Given the description of an element on the screen output the (x, y) to click on. 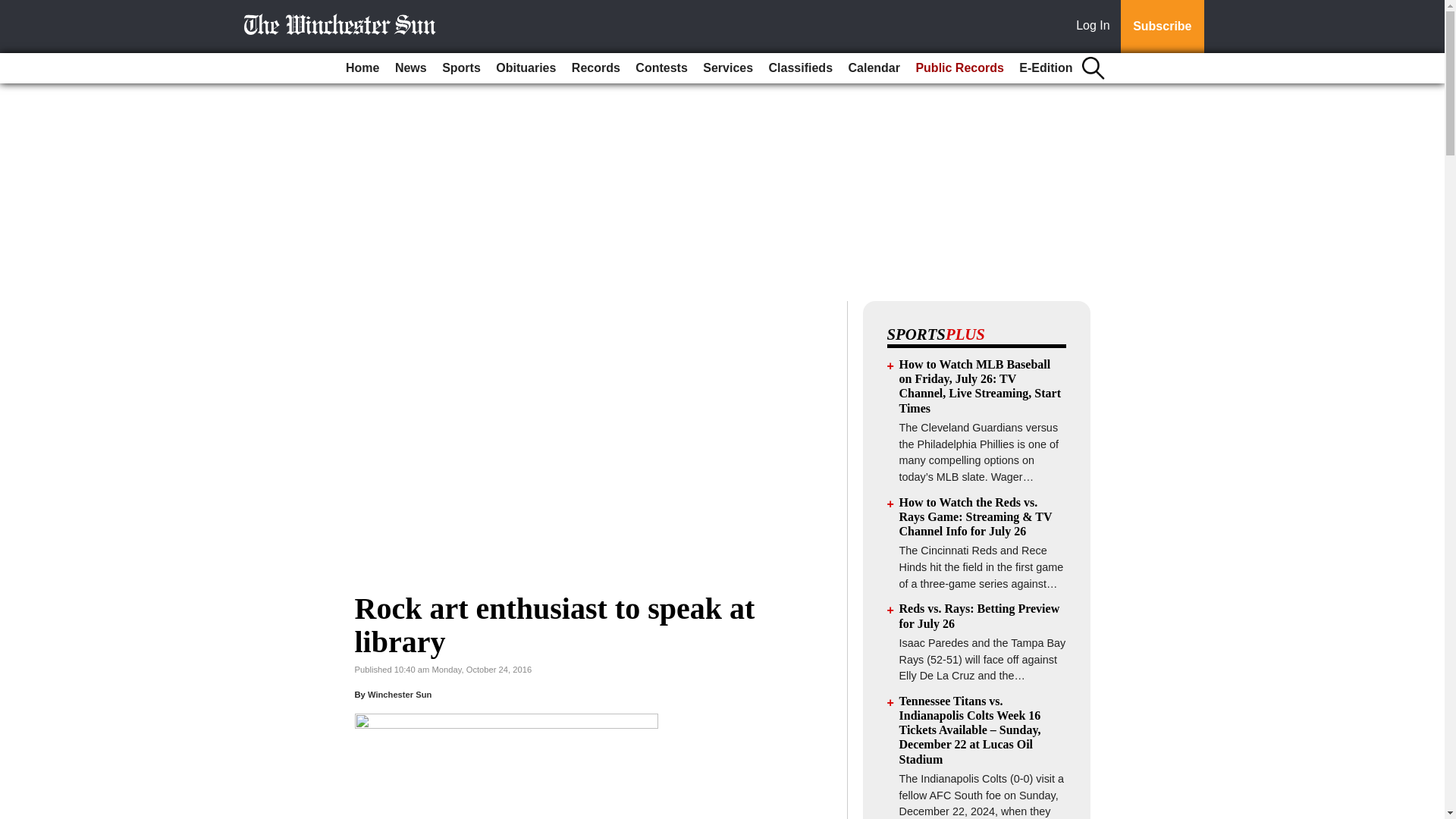
Public Records (958, 68)
Go (13, 9)
Log In (1095, 26)
Reds vs. Rays: Betting Preview for July 26 (979, 615)
Subscribe (1162, 26)
Home (362, 68)
Contests (660, 68)
Classifieds (800, 68)
Calendar (873, 68)
News (410, 68)
Obituaries (525, 68)
E-Edition (1045, 68)
Records (596, 68)
Services (727, 68)
